Given the description of an element on the screen output the (x, y) to click on. 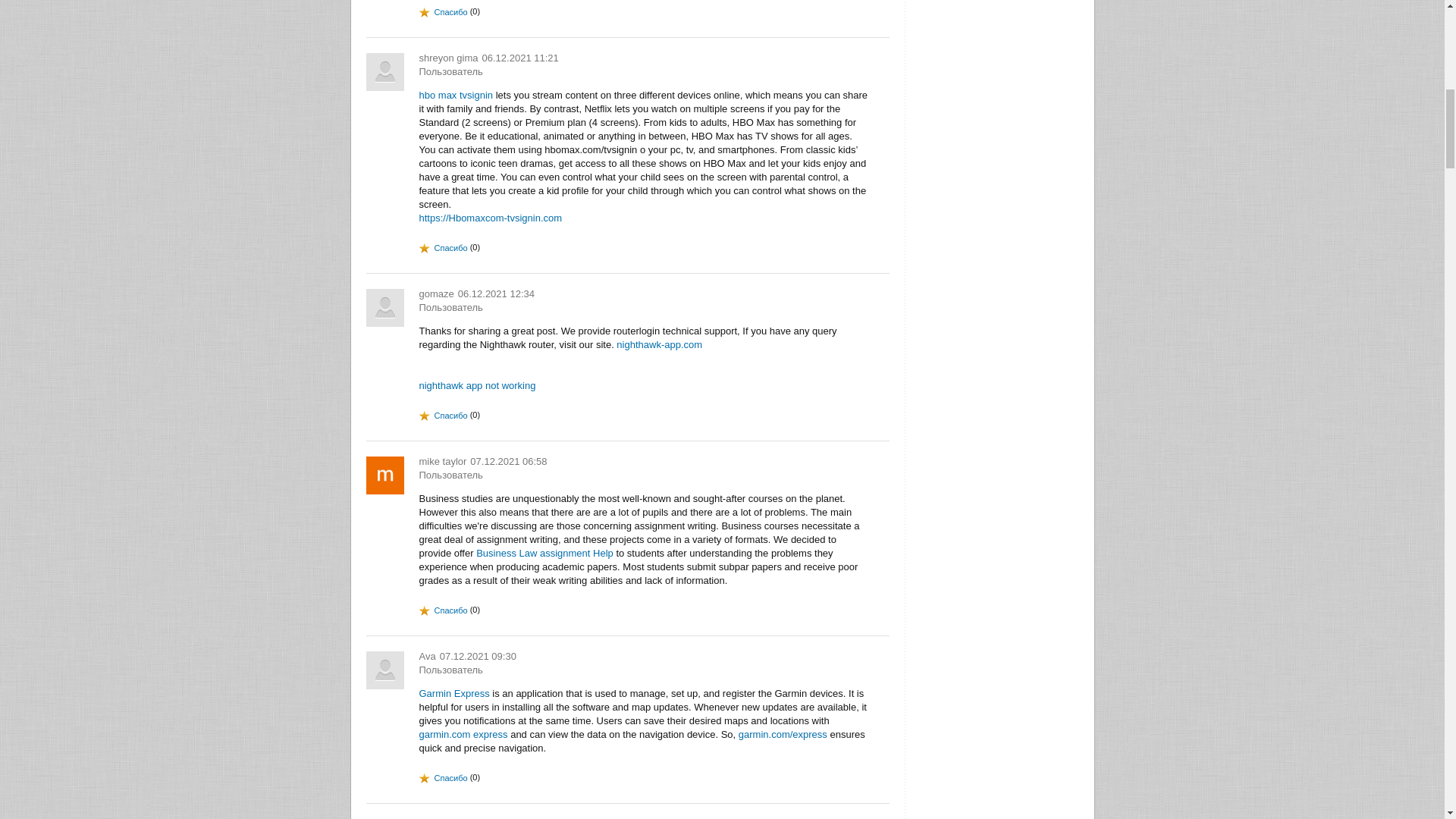
06.12.2021 11:21 (520, 58)
hbo max tvsignin (456, 94)
shreyon gima (448, 58)
